Given the description of an element on the screen output the (x, y) to click on. 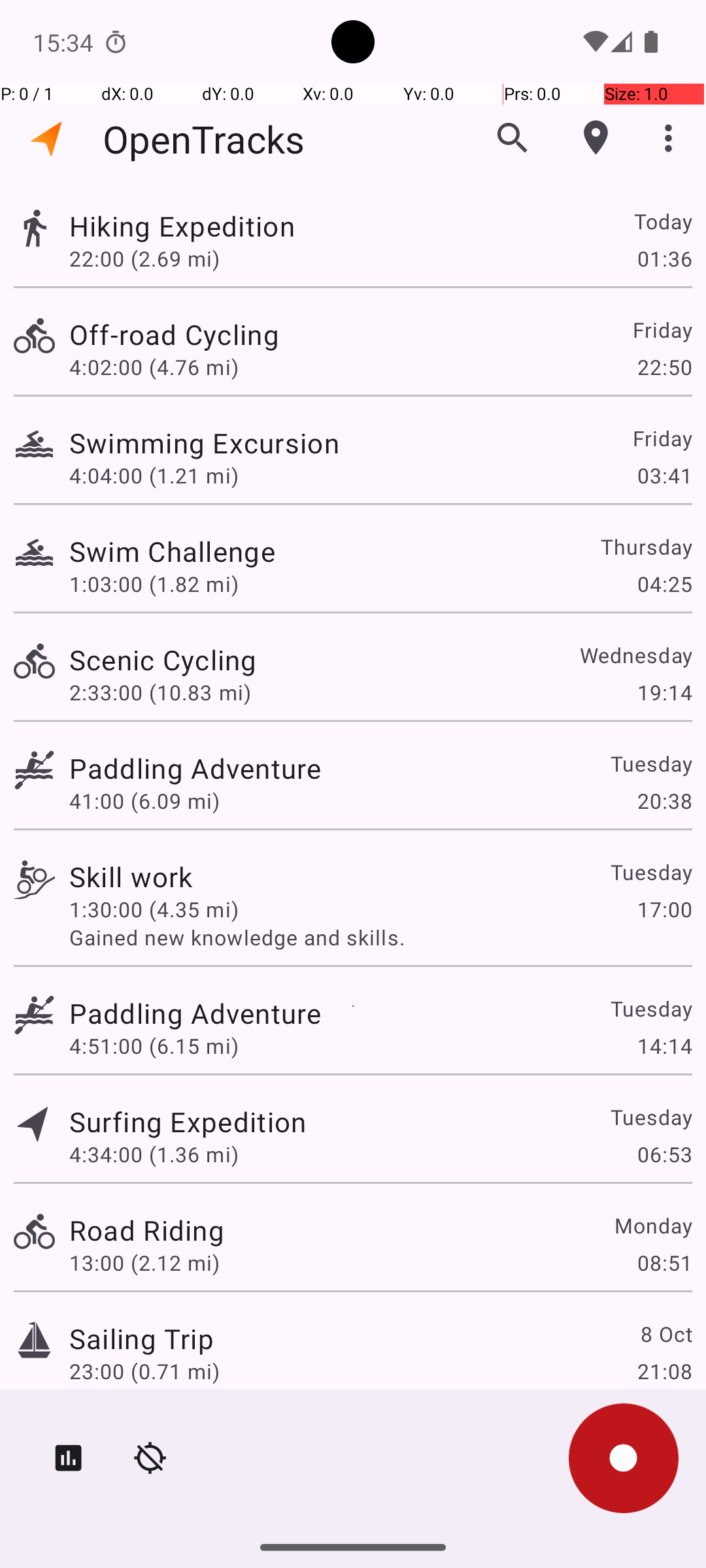
Hiking Expedition Element type: android.widget.TextView (181, 225)
22:00 (2.69 mi) Element type: android.widget.TextView (144, 258)
01:36 Element type: android.widget.TextView (664, 258)
Off-road Cycling Element type: android.widget.TextView (173, 333)
4:02:00 (4.76 mi) Element type: android.widget.TextView (153, 366)
22:50 Element type: android.widget.TextView (664, 366)
Swimming Excursion Element type: android.widget.TextView (203, 442)
4:04:00 (1.21 mi) Element type: android.widget.TextView (153, 475)
03:41 Element type: android.widget.TextView (664, 475)
Swim Challenge Element type: android.widget.TextView (171, 550)
1:03:00 (1.82 mi) Element type: android.widget.TextView (153, 583)
04:25 Element type: android.widget.TextView (664, 583)
2:33:00 (10.83 mi) Element type: android.widget.TextView (159, 692)
19:14 Element type: android.widget.TextView (664, 692)
Paddling Adventure Element type: android.widget.TextView (194, 767)
41:00 (6.09 mi) Element type: android.widget.TextView (144, 800)
20:38 Element type: android.widget.TextView (664, 800)
Skill work Element type: android.widget.TextView (130, 876)
1:30:00 (4.35 mi) Element type: android.widget.TextView (153, 909)
Gained new knowledge and skills. Element type: android.widget.TextView (380, 937)
4:51:00 (6.15 mi) Element type: android.widget.TextView (153, 1045)
14:14 Element type: android.widget.TextView (664, 1045)
Surfing Expedition Element type: android.widget.TextView (187, 1121)
4:34:00 (1.36 mi) Element type: android.widget.TextView (153, 1154)
06:53 Element type: android.widget.TextView (664, 1154)
Road Riding Element type: android.widget.TextView (146, 1229)
13:00 (2.12 mi) Element type: android.widget.TextView (144, 1262)
08:51 Element type: android.widget.TextView (664, 1262)
Sailing Trip Element type: android.widget.TextView (141, 1337)
23:00 (0.71 mi) Element type: android.widget.TextView (144, 1370)
21:08 Element type: android.widget.TextView (664, 1370)
